Given the description of an element on the screen output the (x, y) to click on. 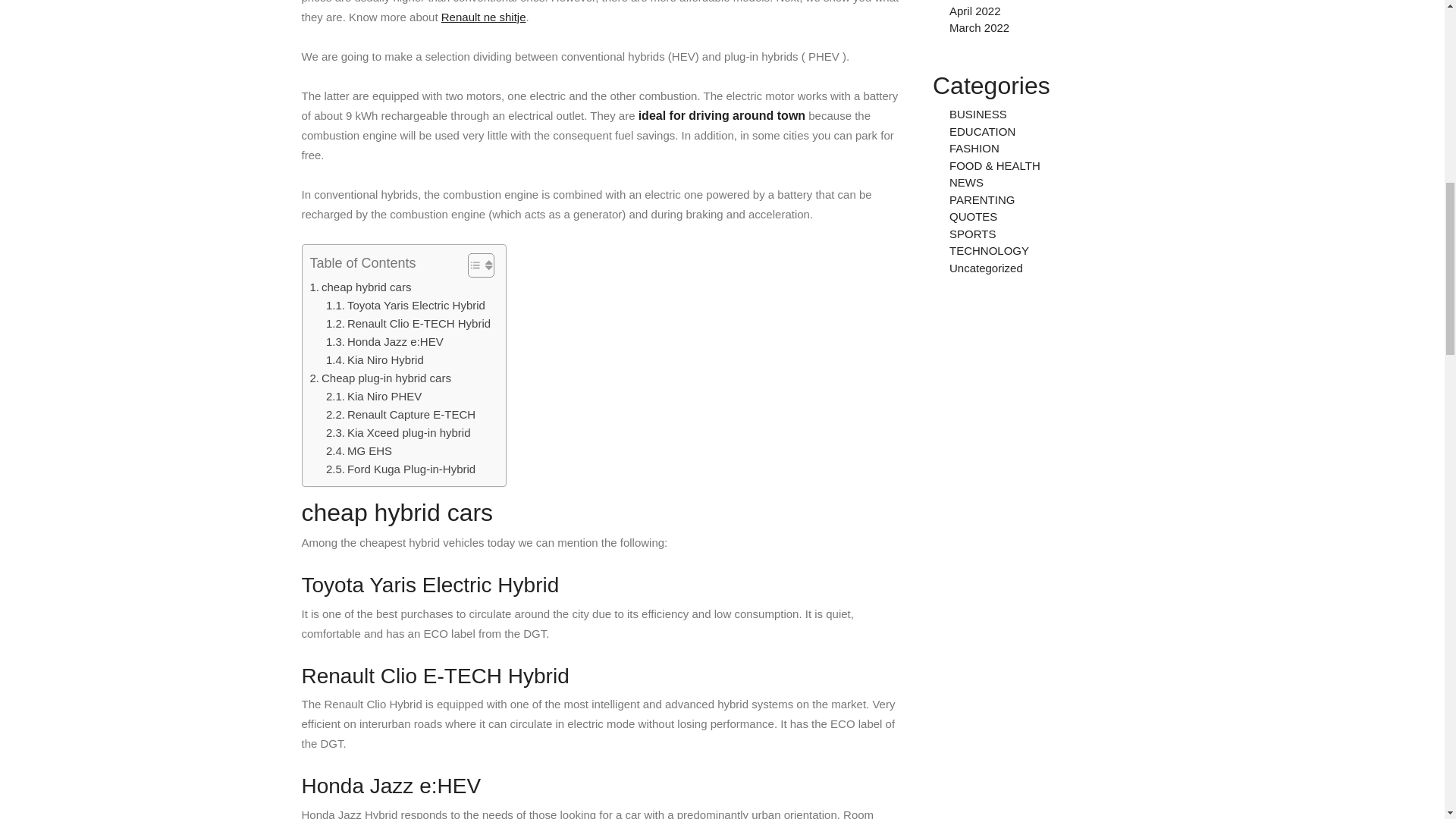
Toyota Yaris Electric Hybrid (405, 305)
Renault Clio E-TECH Hybrid (408, 323)
Ford Kuga Plug-in-Hybrid (401, 469)
cheap hybrid cars (359, 287)
Renault Clio E-TECH Hybrid (408, 323)
Kia Niro PHEV (374, 396)
Cheap plug-in hybrid cars (378, 378)
Kia Niro Hybrid (374, 360)
MG EHS (358, 451)
Honda Jazz e:HEV (385, 341)
Toyota Yaris Electric Hybrid (405, 305)
Ford Kuga Plug-in-Hybrid (401, 469)
Kia Xceed plug-in hybrid (398, 433)
MG EHS (358, 451)
Kia Niro PHEV (374, 396)
